Given the description of an element on the screen output the (x, y) to click on. 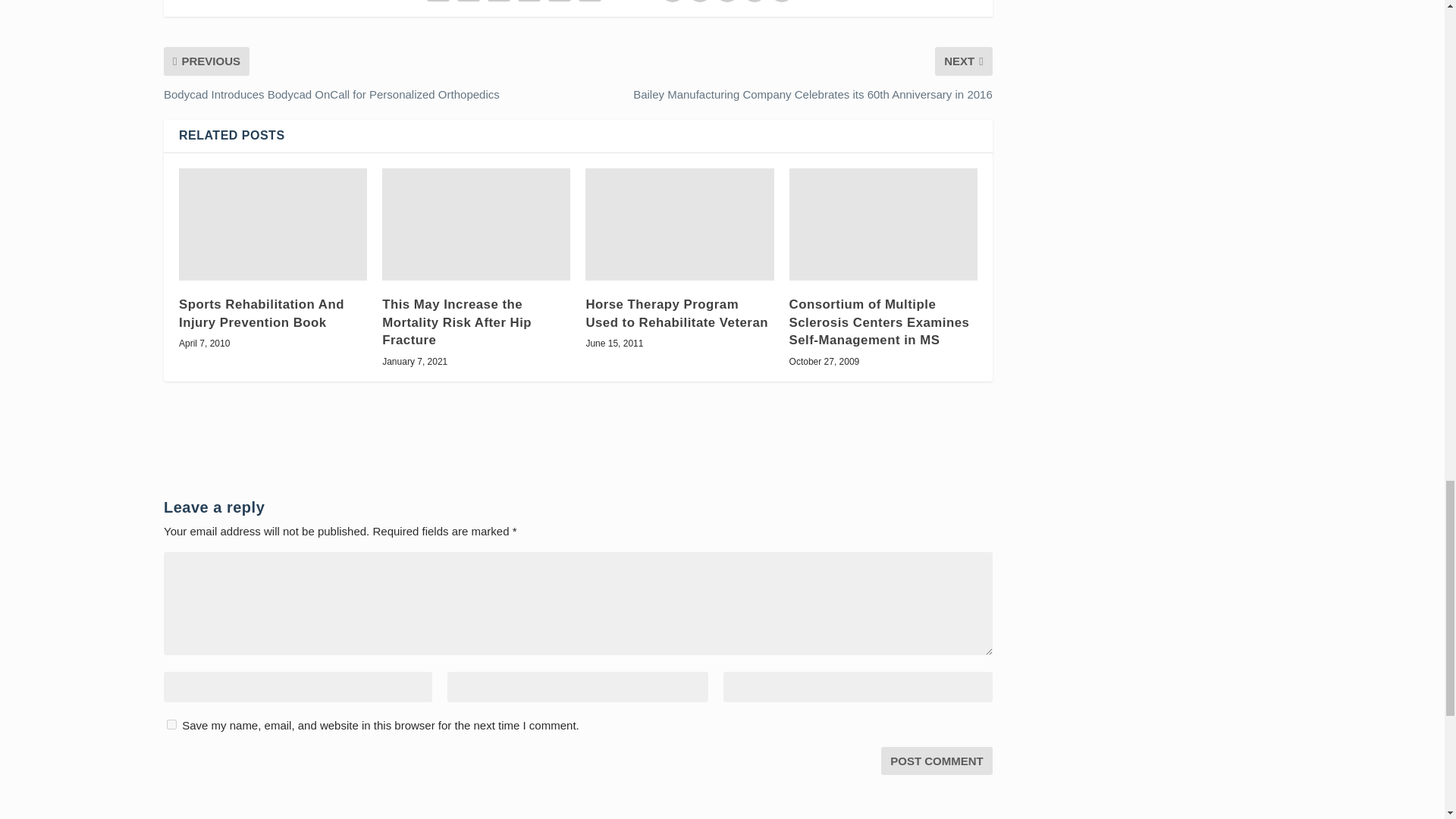
yes (171, 724)
Sports Rehabilitation And Injury Prevention Book (272, 224)
gorgeous (781, 1)
good (753, 1)
Post Comment (936, 760)
bad (672, 1)
poor (699, 1)
regular (727, 1)
